Given the description of an element on the screen output the (x, y) to click on. 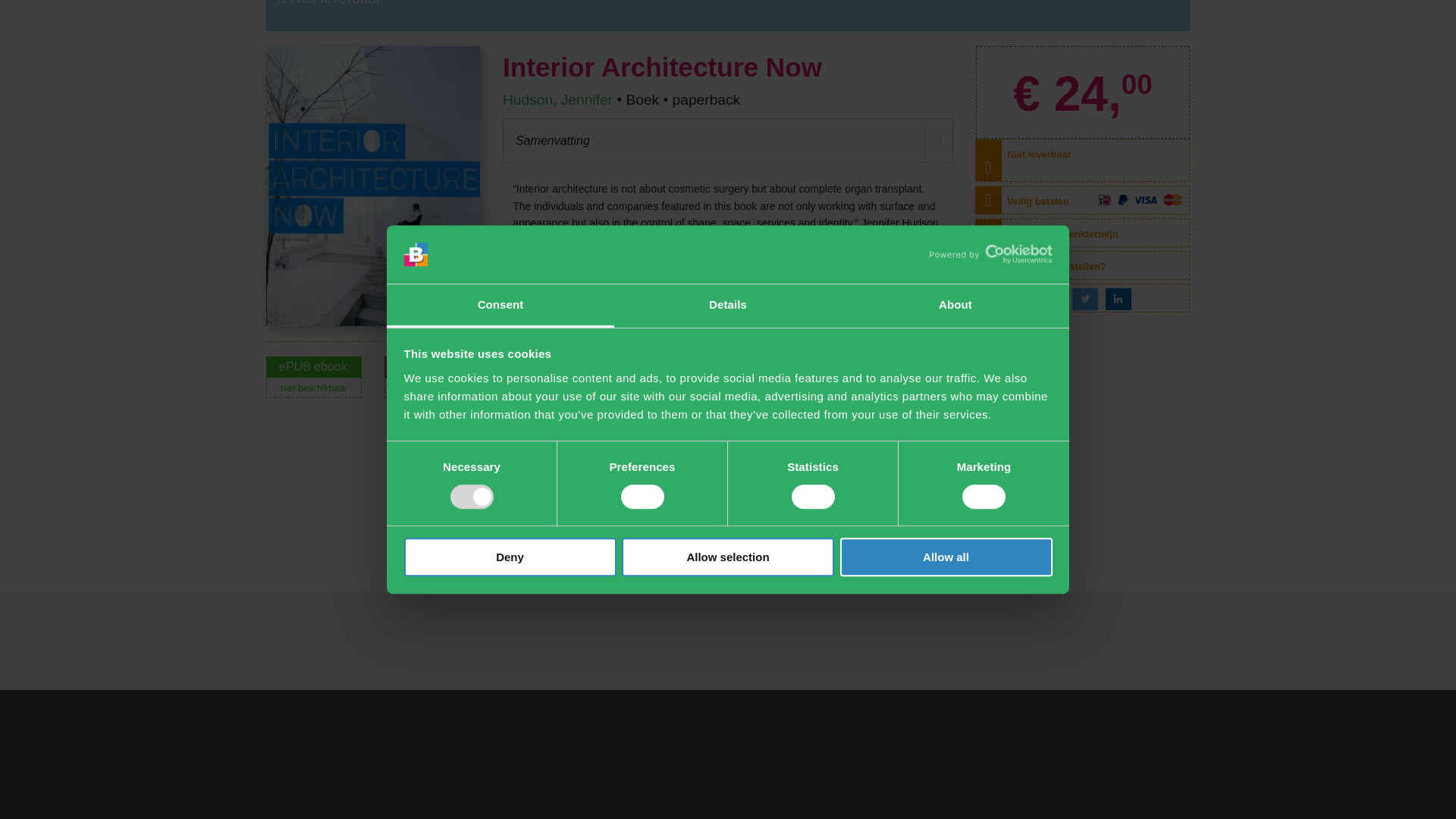
Allow selection (727, 331)
meer boeken van  Hudson, Jennifer (557, 99)
Allow all (946, 331)
About (954, 79)
Details (727, 79)
Consent (500, 79)
Deny (509, 331)
